Given the description of an element on the screen output the (x, y) to click on. 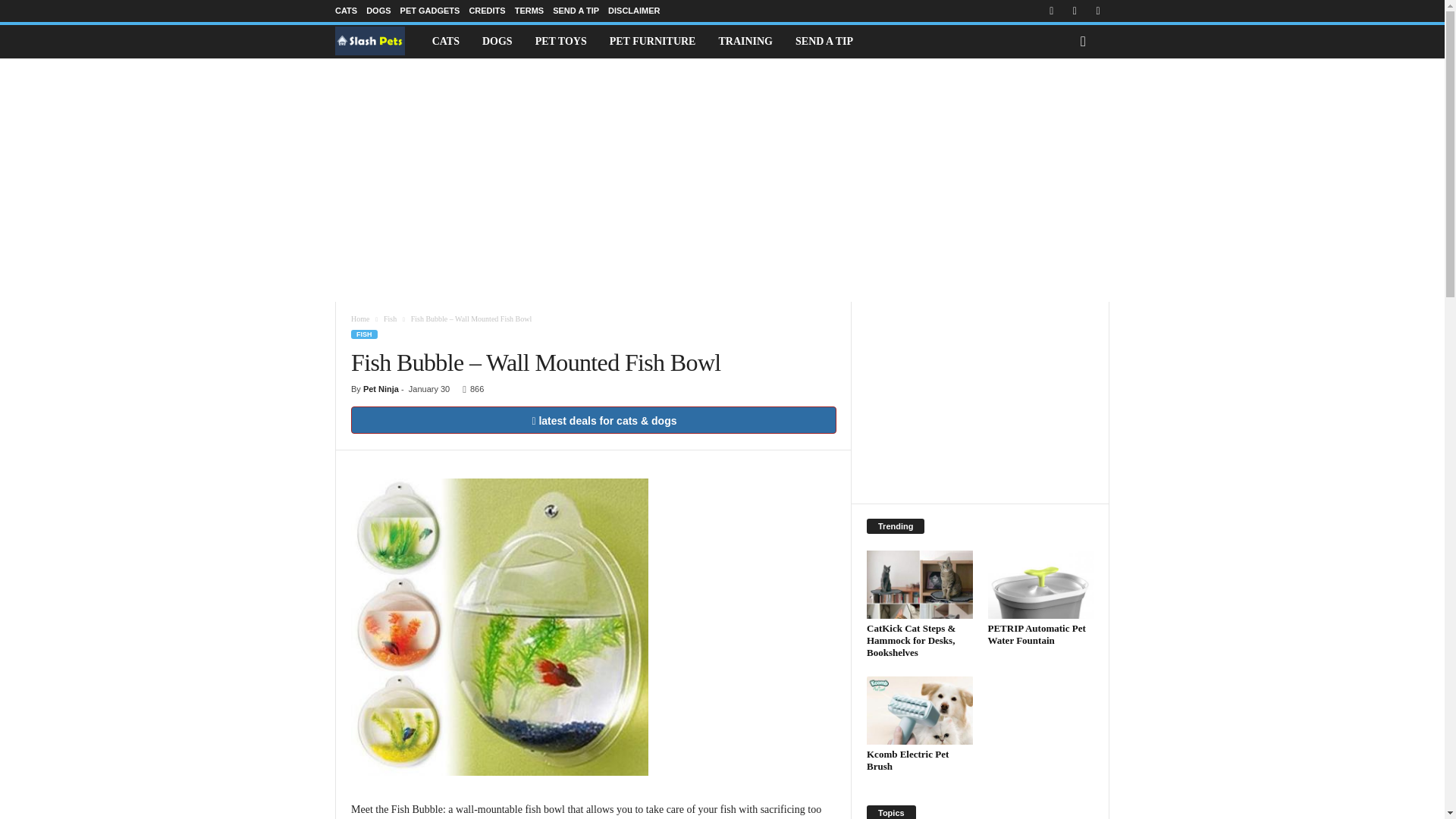
CREDITS (486, 10)
SEND A TIP (575, 10)
TERMS (529, 10)
DOGS (378, 10)
PET GADGETS (430, 10)
RSS (1074, 11)
CATS (445, 41)
Slash Pets (377, 41)
DISCLAIMER (633, 10)
Twitter (1097, 11)
Facebook (1051, 11)
CATS (345, 10)
